Given the description of an element on the screen output the (x, y) to click on. 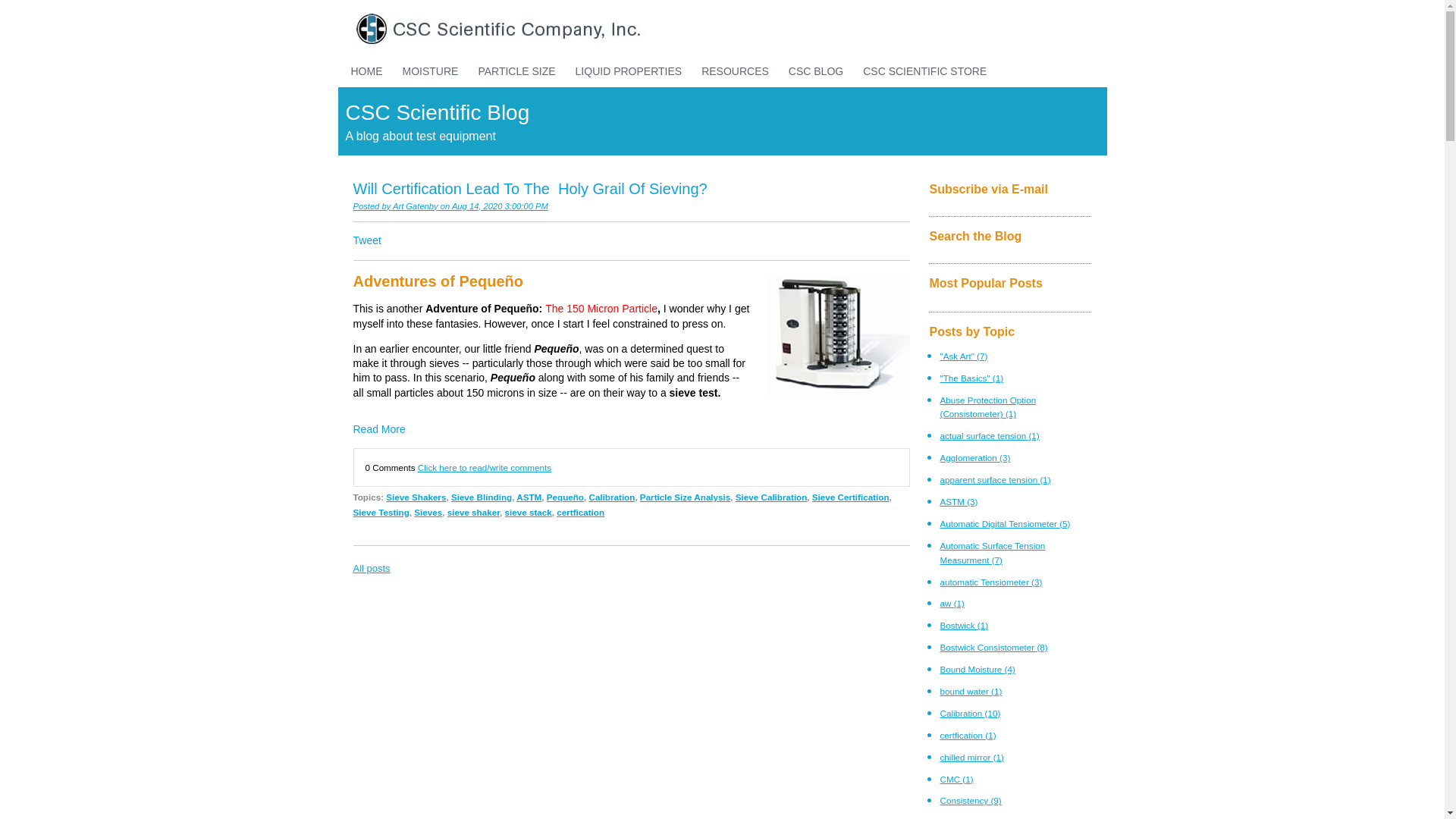
PARTICLE SIZE (515, 71)
HOME (366, 71)
CSC Scientific Company, Inc. (492, 28)
MOISTURE (430, 71)
LIQUID PROPERTIES (628, 71)
